Given the description of an element on the screen output the (x, y) to click on. 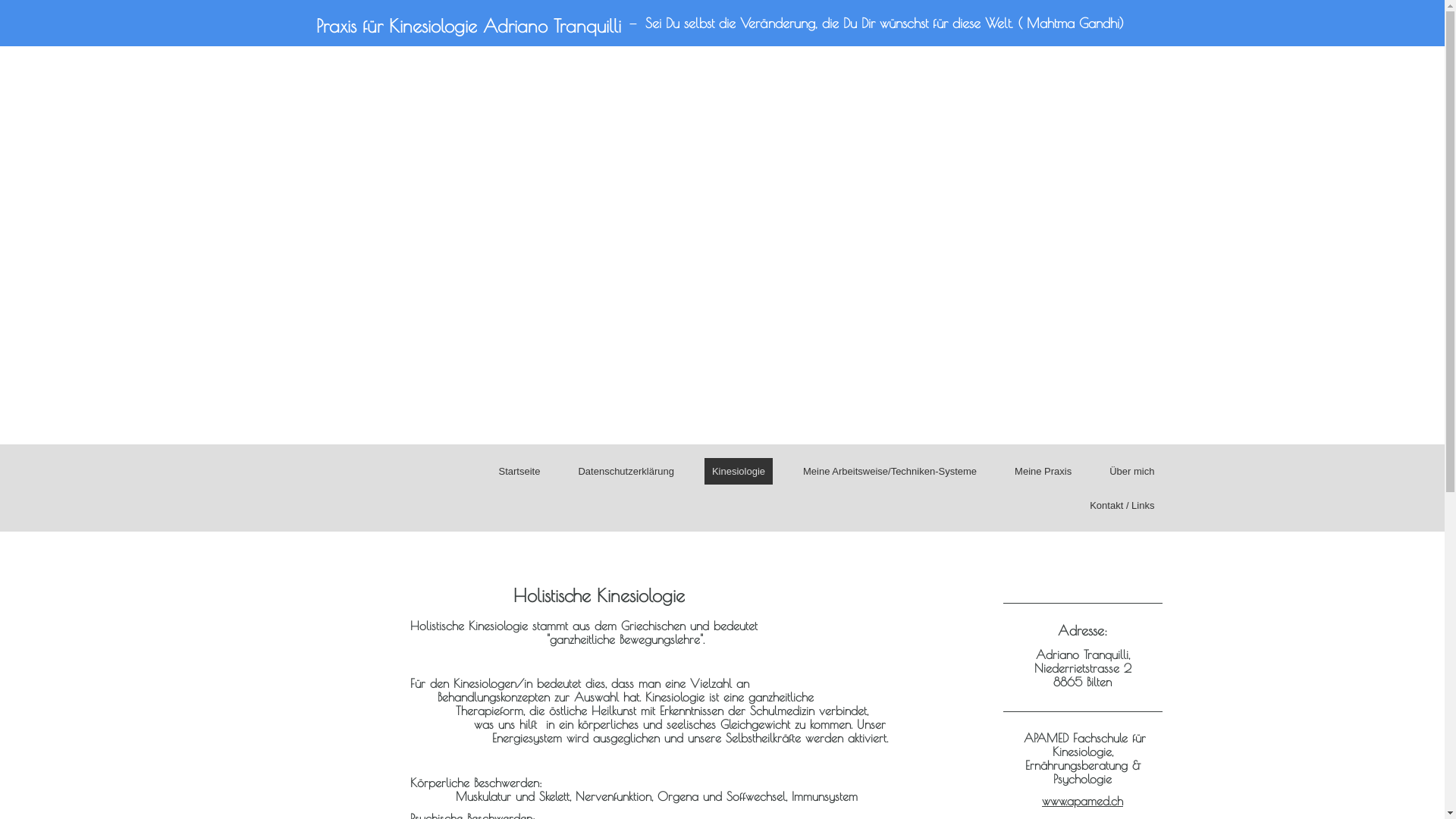
Startseite Element type: text (519, 470)
Kontakt / Links Element type: text (1121, 505)
Meine Arbeitsweise/Techniken-Systeme Element type: text (889, 470)
www.apamed.ch Element type: text (1082, 800)
Meine Praxis Element type: text (1042, 470)
Kinesiologie Element type: text (738, 470)
  Element type: text (354, 486)
